Given the description of an element on the screen output the (x, y) to click on. 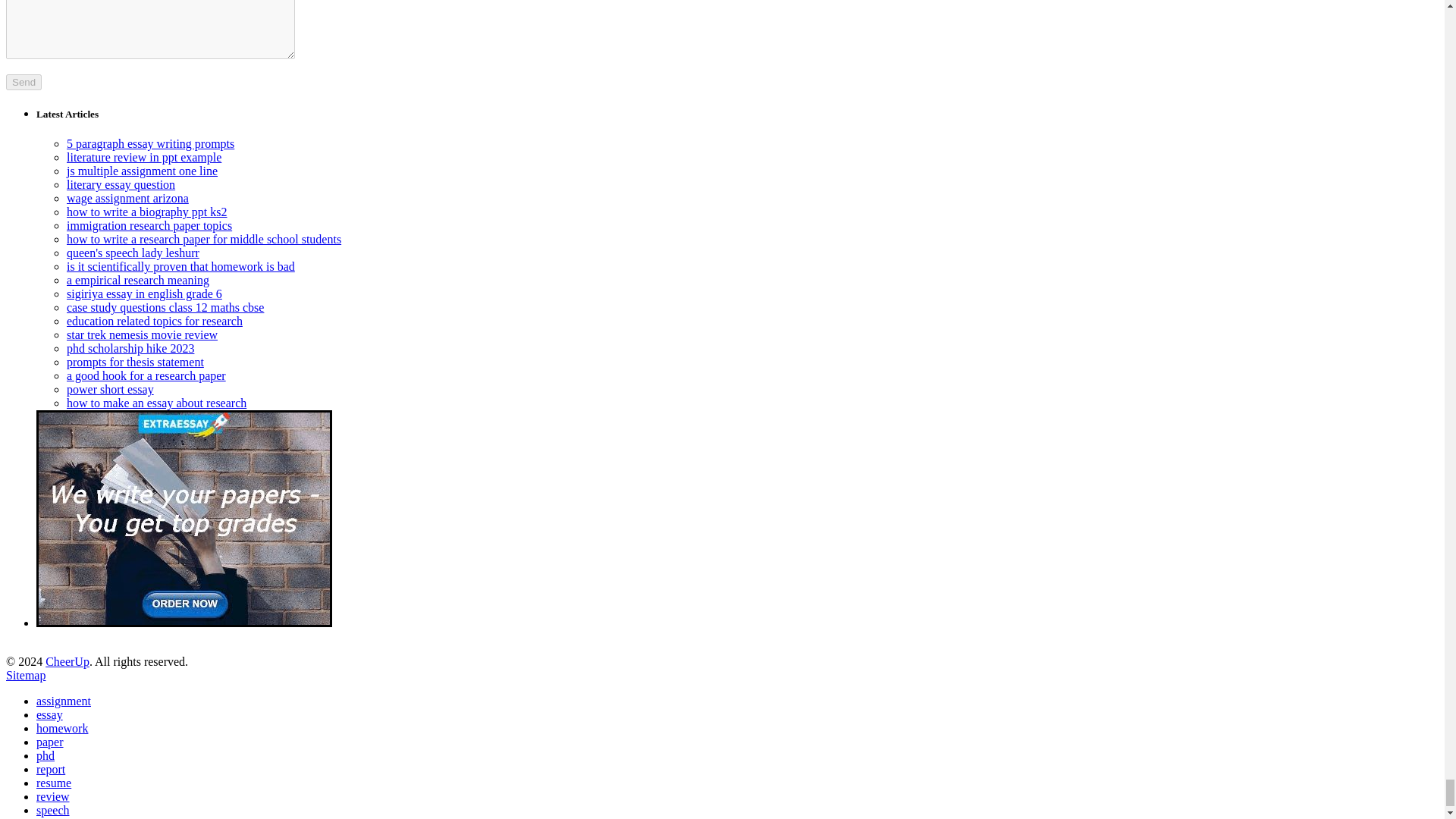
immigration research paper topics (148, 225)
js multiple assignment one line (141, 170)
case study questions class 12 maths cbse (164, 307)
literary essay question (120, 184)
a good hook for a research paper (145, 375)
prompts for thesis statement (134, 361)
education related topics for research (154, 320)
how to write a research paper for middle school students (203, 238)
star trek nemesis movie review (141, 334)
is it scientifically proven that homework is bad (180, 266)
phd scholarship hike 2023 (129, 348)
a empirical research meaning (137, 279)
Send (23, 82)
Send (23, 82)
queen's speech lady leshurr (132, 252)
